Given the description of an element on the screen output the (x, y) to click on. 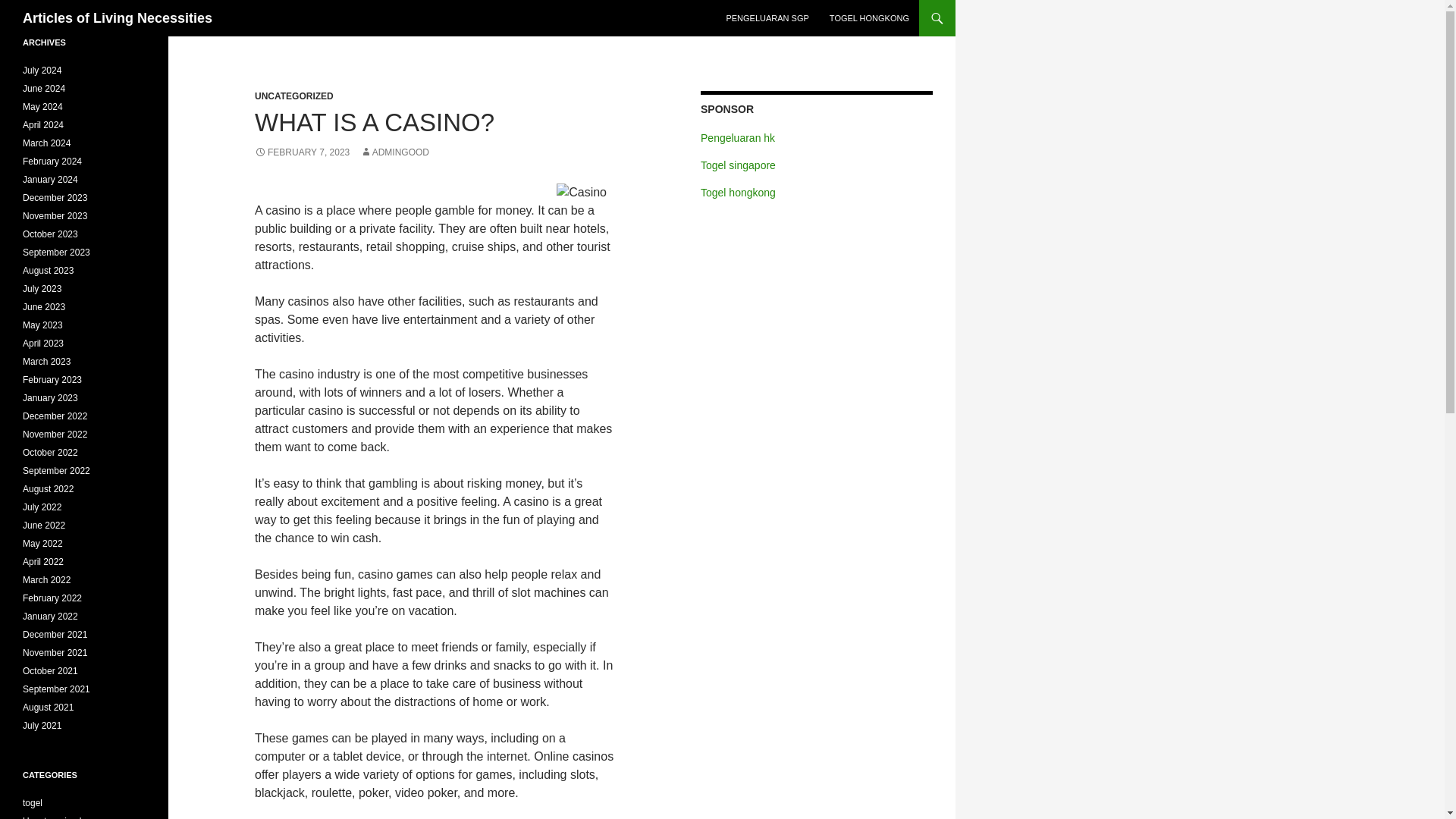
July 2022 (42, 507)
UNCATEGORIZED (293, 95)
May 2024 (42, 106)
February 2024 (52, 161)
January 2024 (50, 179)
November 2022 (55, 434)
April 2023 (43, 343)
Togel singapore (738, 164)
June 2024 (44, 88)
ADMINGOOD (394, 152)
January 2023 (50, 398)
September 2023 (56, 252)
October 2022 (50, 452)
November 2023 (55, 215)
August 2023 (48, 270)
